Given the description of an element on the screen output the (x, y) to click on. 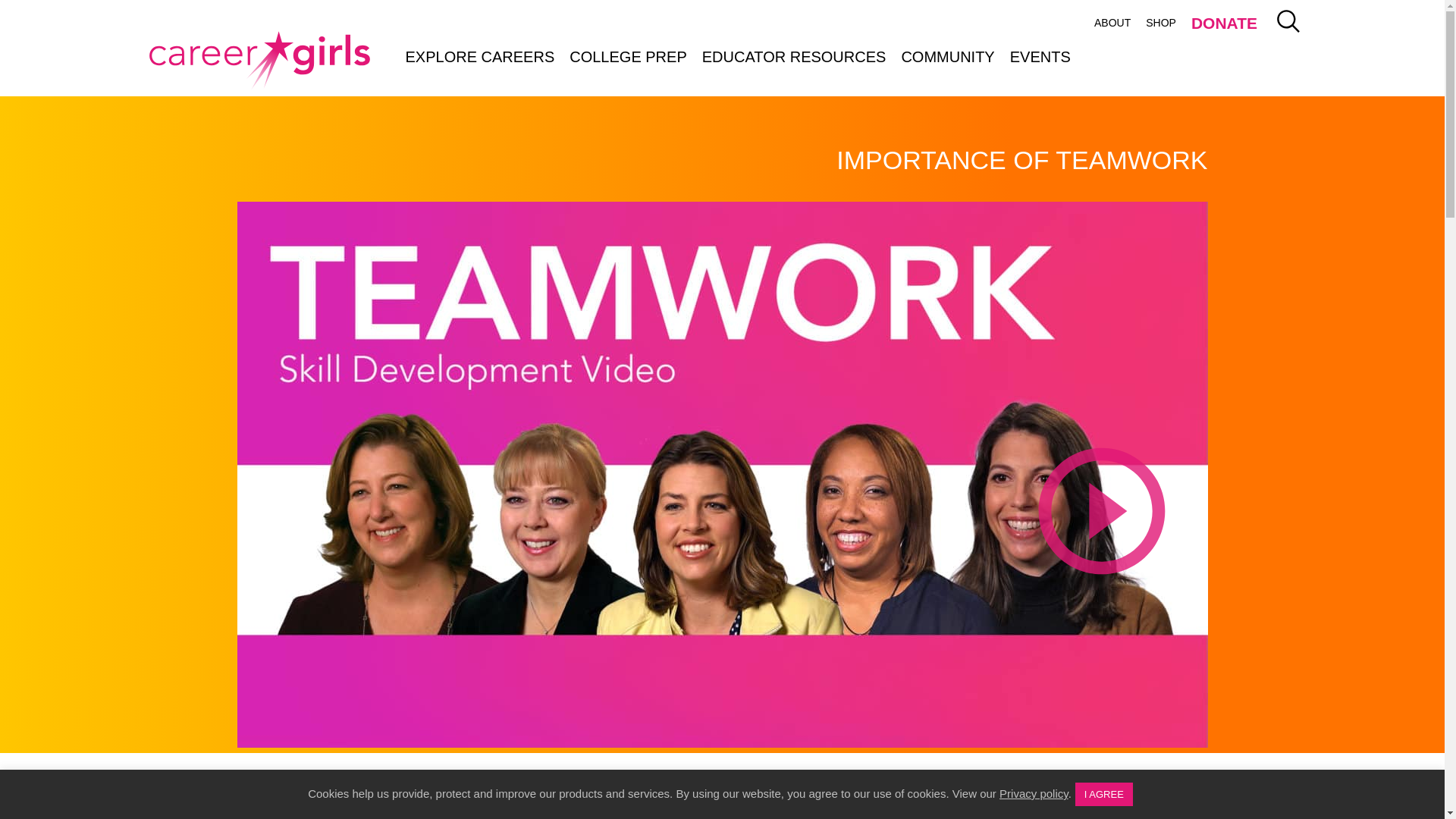
SHOP (1160, 22)
EVENTS (1040, 56)
COLLEGE PREP (628, 56)
EDUCATOR RESOURCES (793, 56)
ABOUT (1112, 22)
COMMUNITY (947, 56)
DONATE (1224, 25)
EXPLORE CAREERS (479, 56)
